Given the description of an element on the screen output the (x, y) to click on. 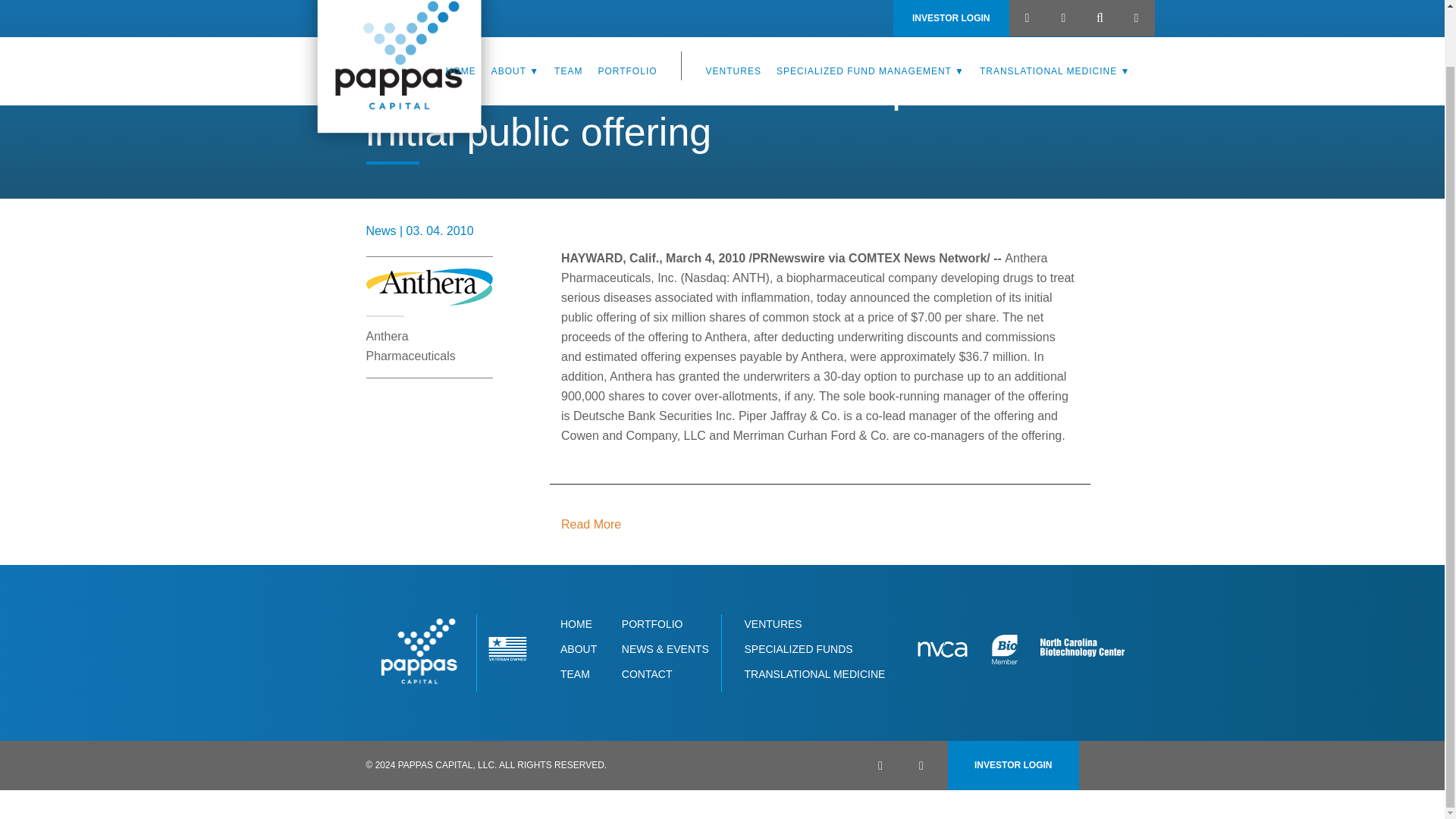
TEAM (568, 22)
TRANSLATIONAL MEDICINE (1055, 22)
CONTACT (646, 674)
SPECIALIZED FUND MANAGEMENT (870, 22)
PORTFOLIO (626, 22)
ABOUT (515, 22)
TEAM (574, 674)
SPECIALIZED FUNDS (797, 648)
HOME (460, 22)
ABOUT (578, 648)
